Given the description of an element on the screen output the (x, y) to click on. 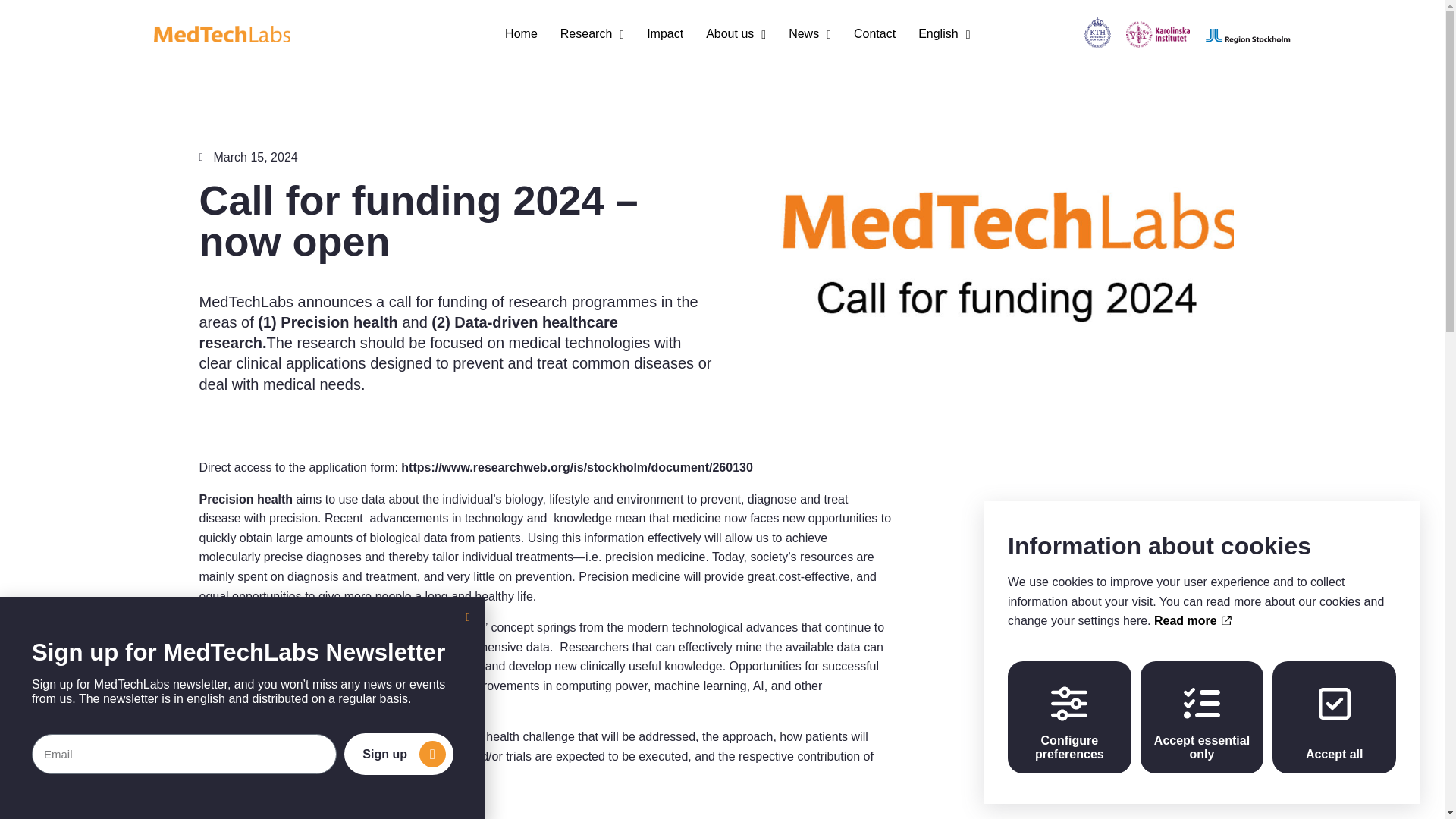
English (943, 33)
Impact (664, 33)
Accept all (1334, 716)
About us (735, 33)
Contact (874, 33)
News (810, 33)
Home (521, 33)
Accept essential only (1201, 716)
Configure preferences (1069, 716)
Research (592, 33)
English (943, 33)
Read more (1192, 620)
